Given the description of an element on the screen output the (x, y) to click on. 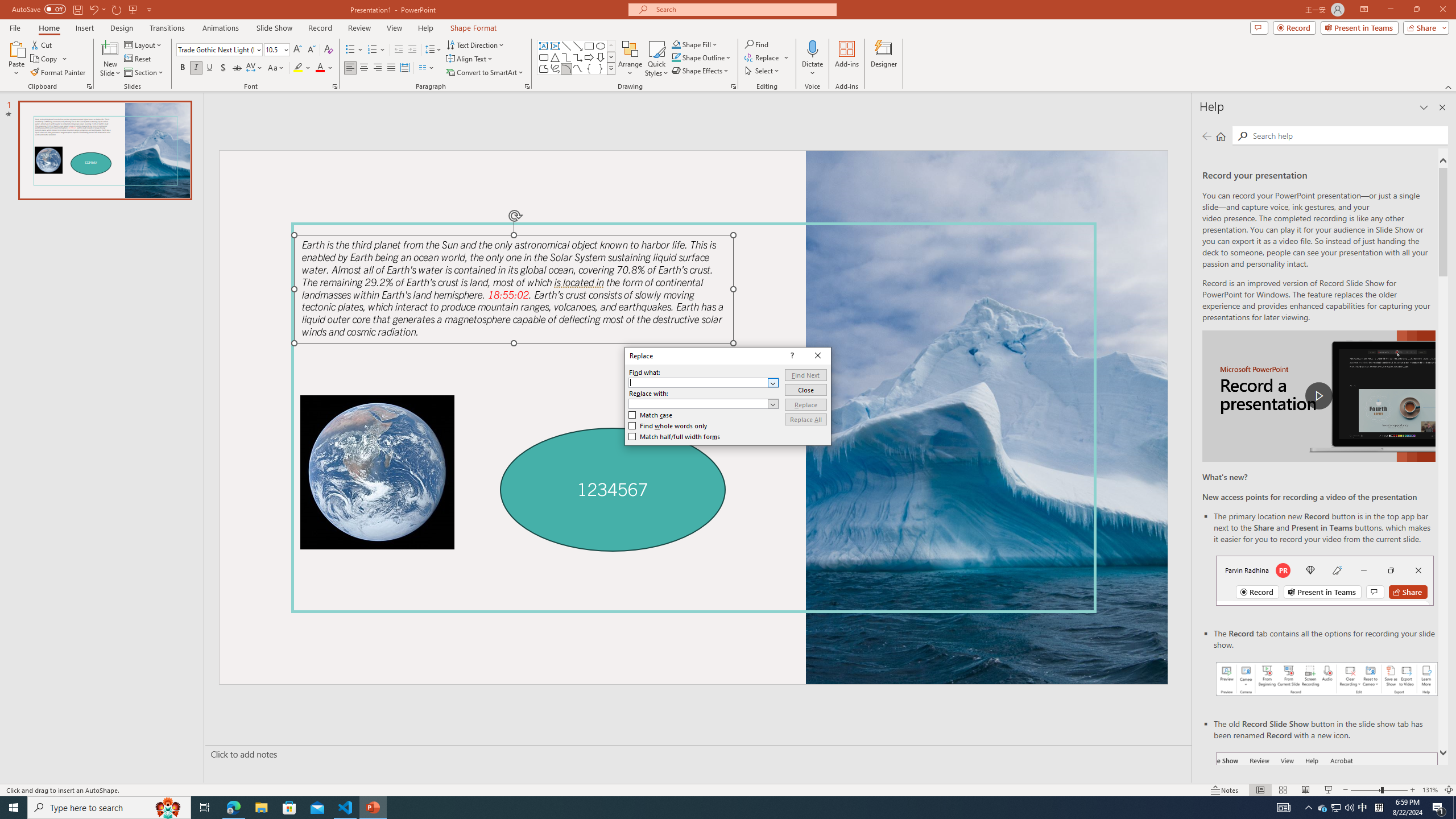
Change Case (276, 67)
Designer (883, 58)
Rectangle (589, 45)
Find whole words only (667, 425)
Format Painter (58, 72)
Visual Studio Code - 1 running window (345, 807)
Previous page (1206, 136)
